Given the description of an element on the screen output the (x, y) to click on. 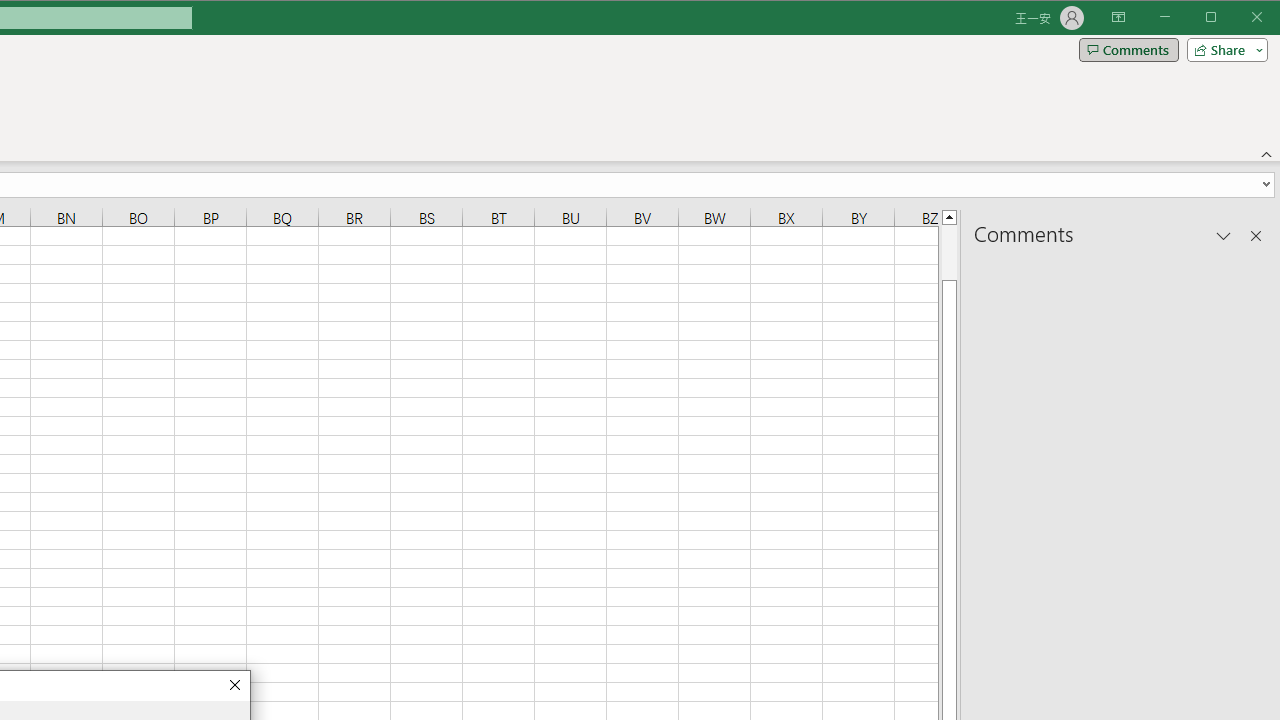
Maximize (1239, 18)
Page up (948, 252)
